Given the description of an element on the screen output the (x, y) to click on. 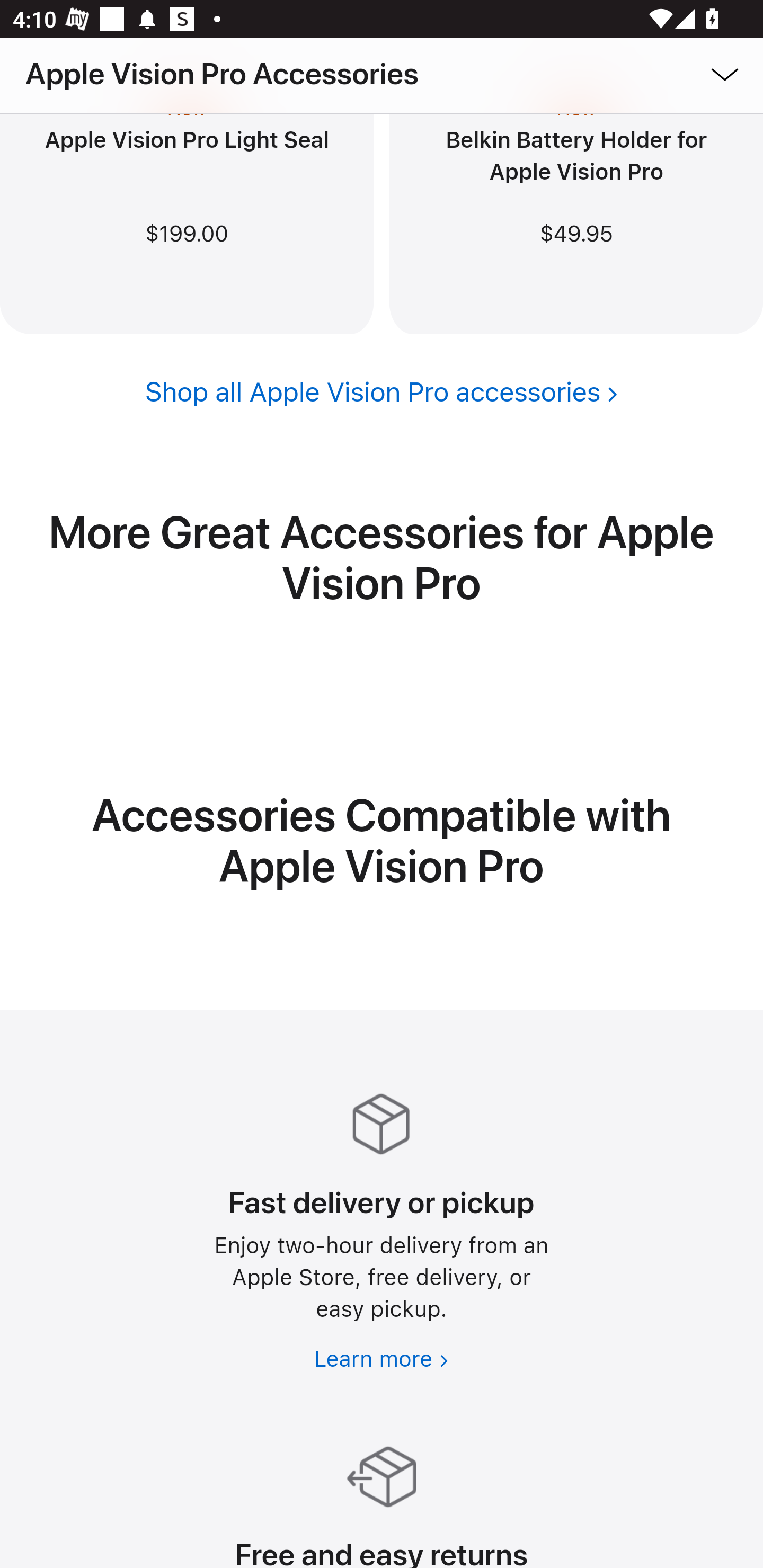
Browse all (699, 73)
Apple Vision Pro Light Seal (186, 141)
Belkin Battery Holder for Apple Vision Pro (576, 158)
